Given the description of an element on the screen output the (x, y) to click on. 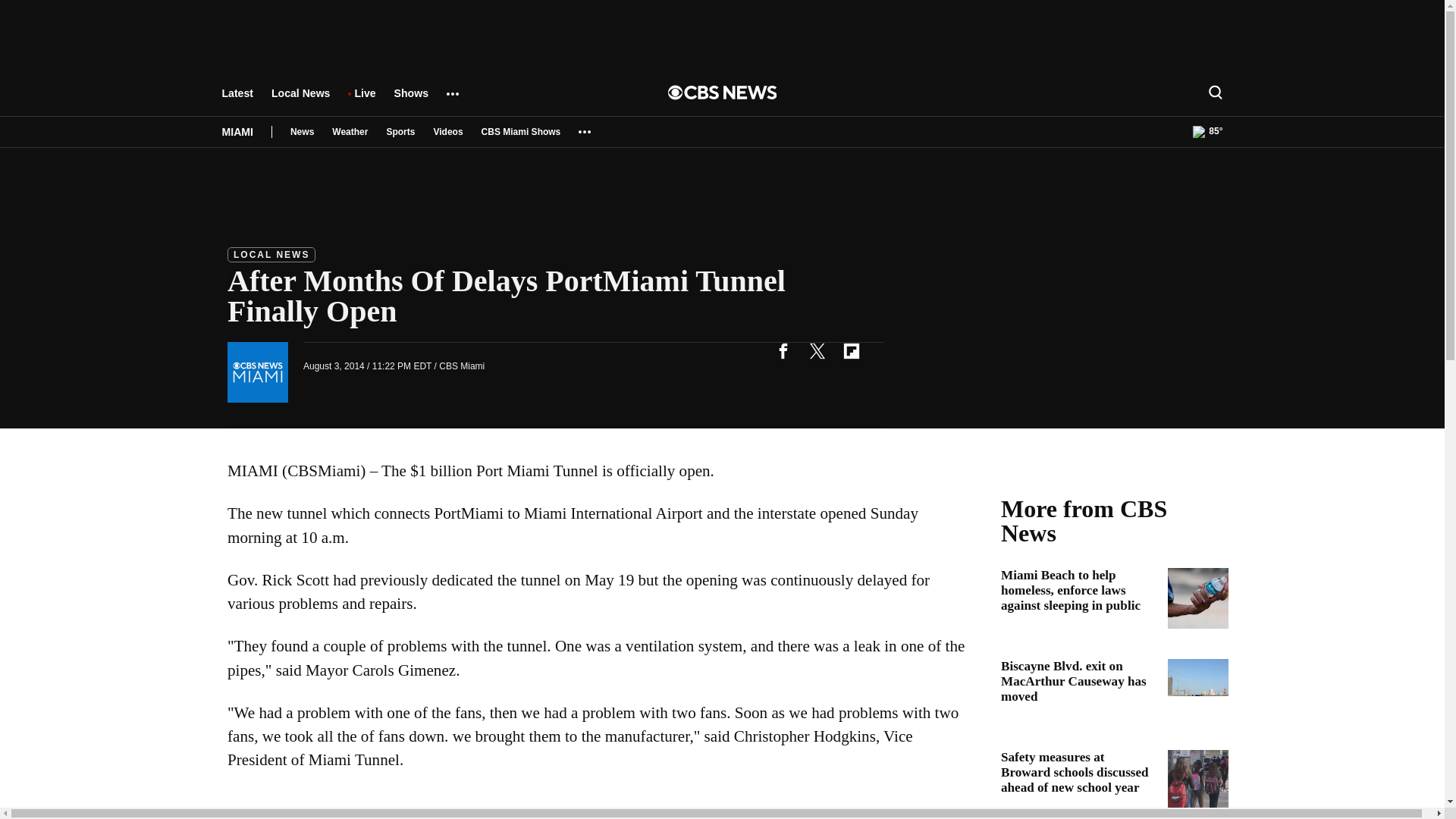
facebook (782, 350)
twitter (816, 350)
flipboard (850, 350)
